Given the description of an element on the screen output the (x, y) to click on. 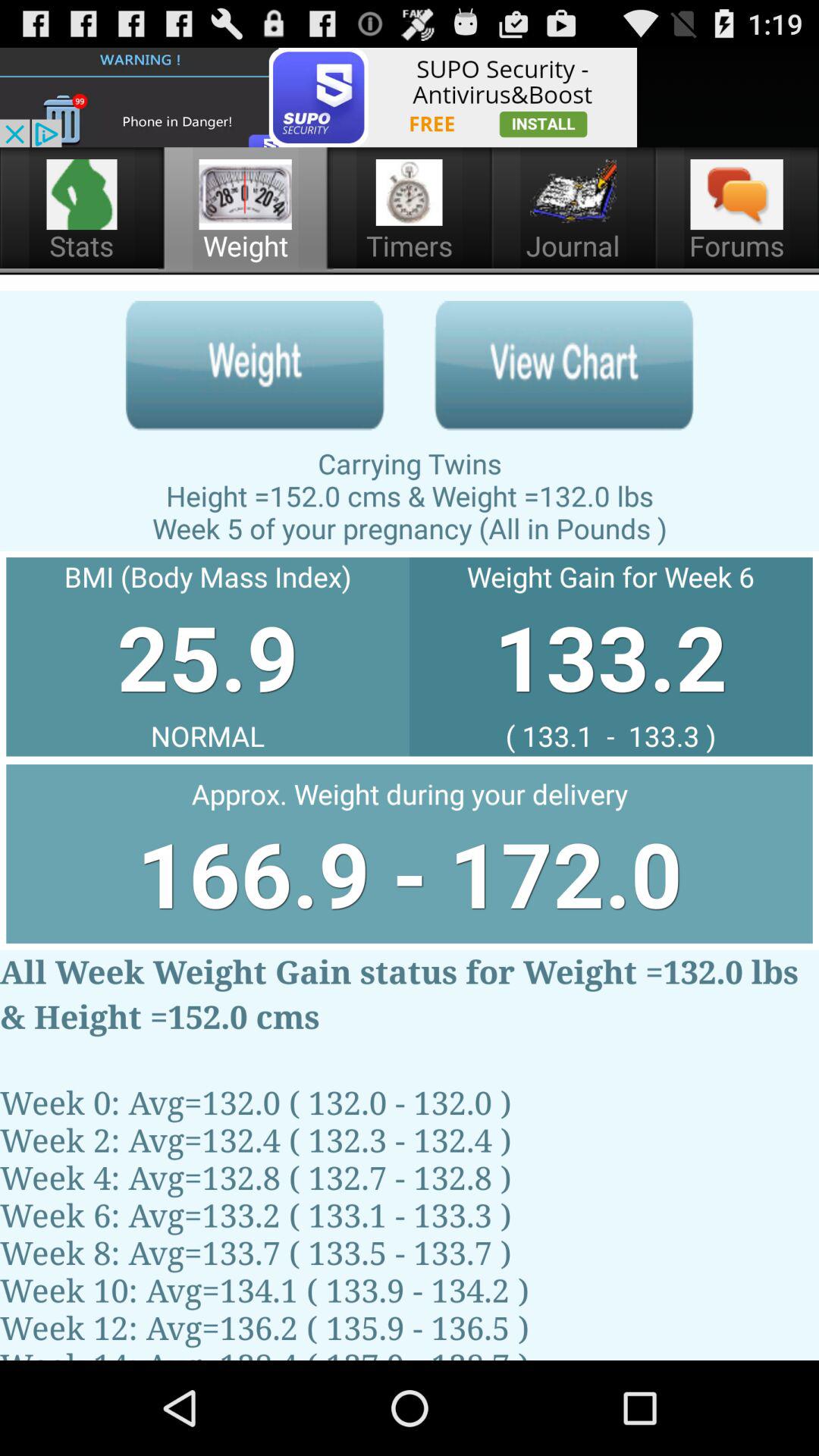
go to chart (563, 365)
